Given the description of an element on the screen output the (x, y) to click on. 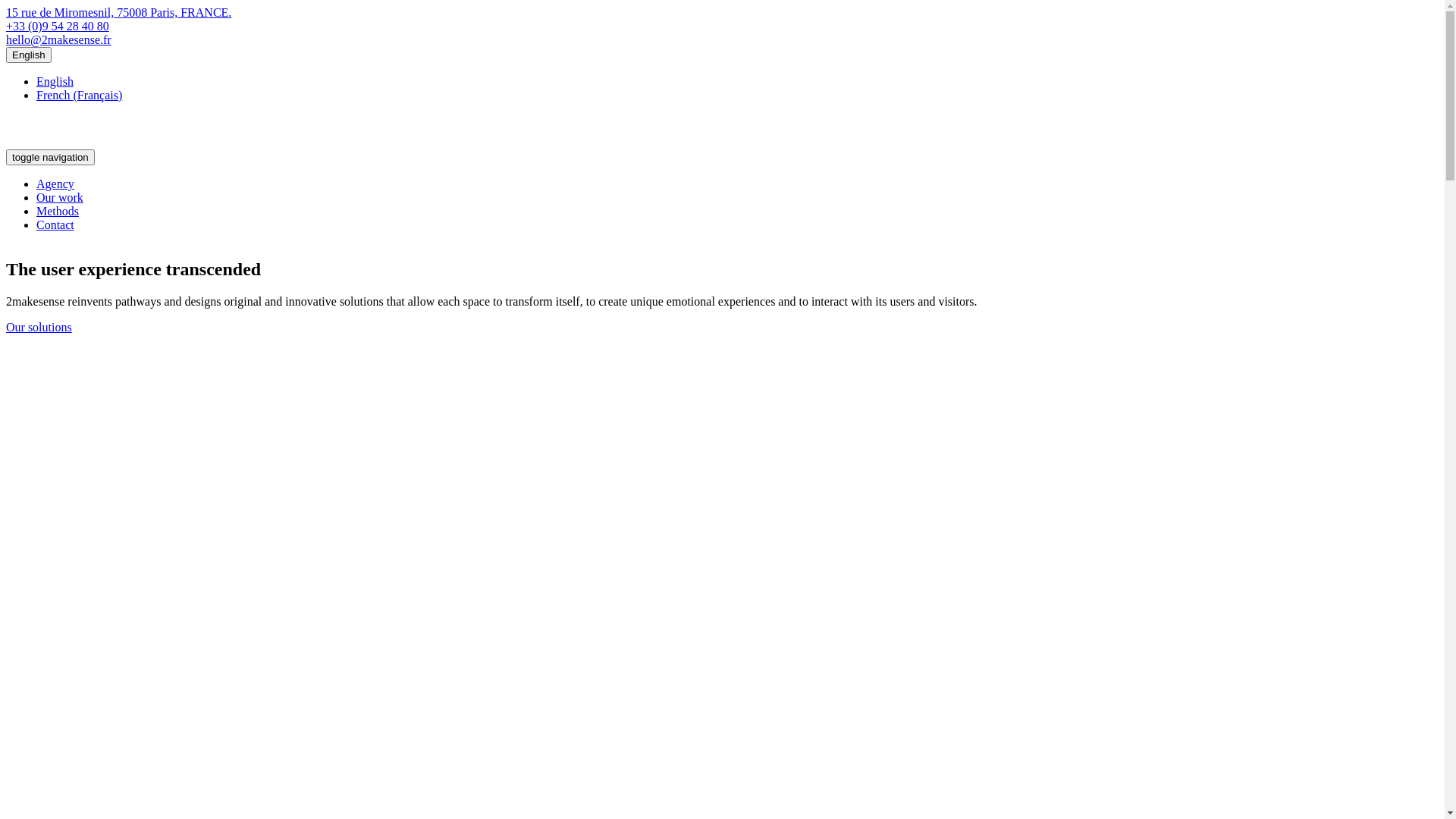
Agency Element type: text (55, 183)
toggle navigation Element type: text (50, 157)
15 rue de Miromesnil, 75008 Paris, FRANCE. Element type: text (118, 12)
English Element type: text (54, 81)
English Element type: text (28, 54)
Contact Element type: text (55, 224)
hello@2makesense.fr Element type: text (58, 39)
Methods Element type: text (57, 210)
+33 (0)9 54 28 40 80 Element type: text (57, 25)
Our work Element type: text (59, 197)
Our solutions Element type: text (39, 326)
2makesense Element type: hover (65, 141)
